Given the description of an element on the screen output the (x, y) to click on. 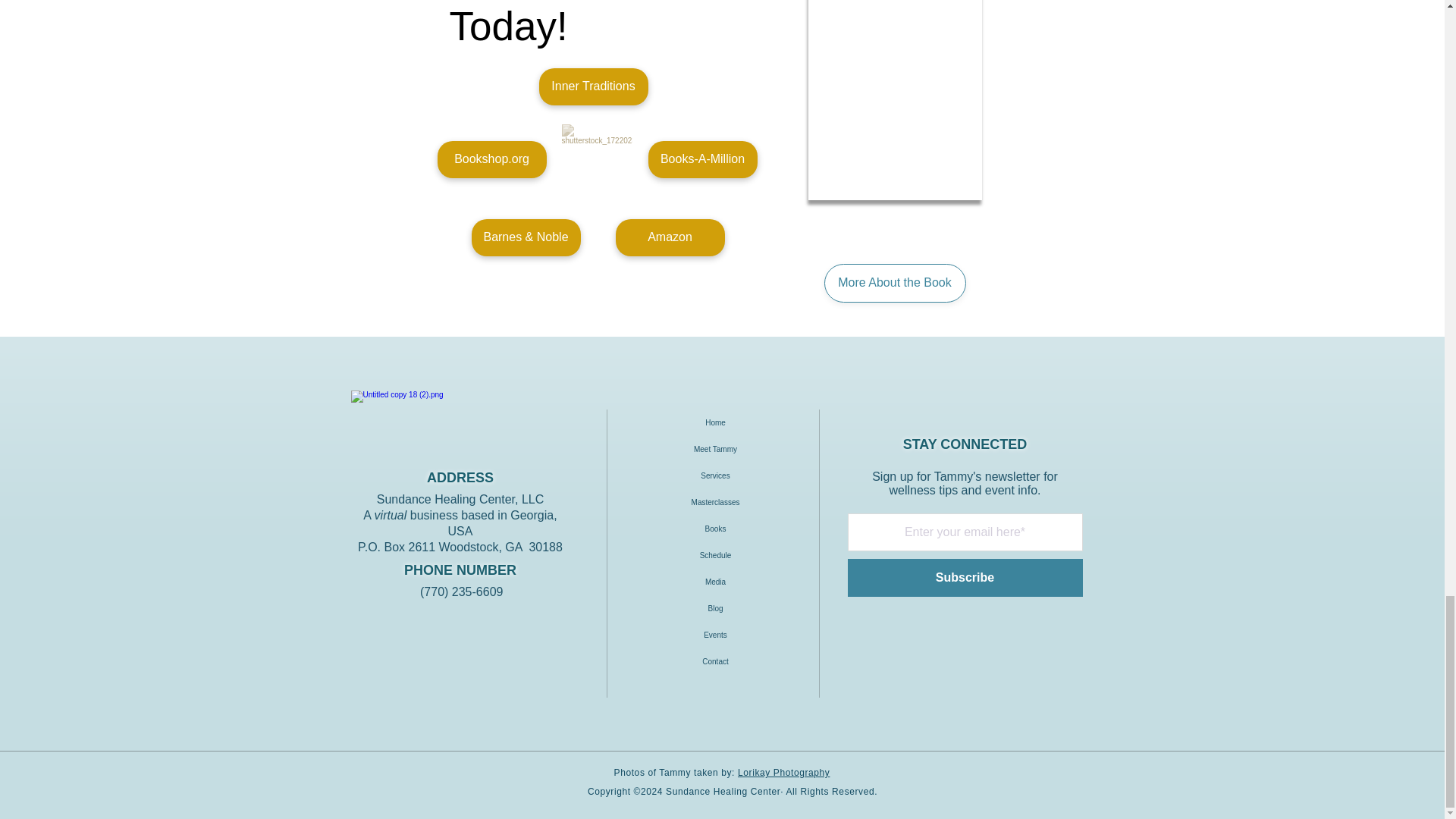
Masterclasses (715, 501)
More About the Book (894, 282)
Inner Traditions (592, 86)
Meet Tammy (715, 448)
Amazon (670, 237)
Media (715, 581)
Services (715, 475)
Bookshop.org (491, 159)
Schedule (715, 555)
Books (715, 528)
